Given the description of an element on the screen output the (x, y) to click on. 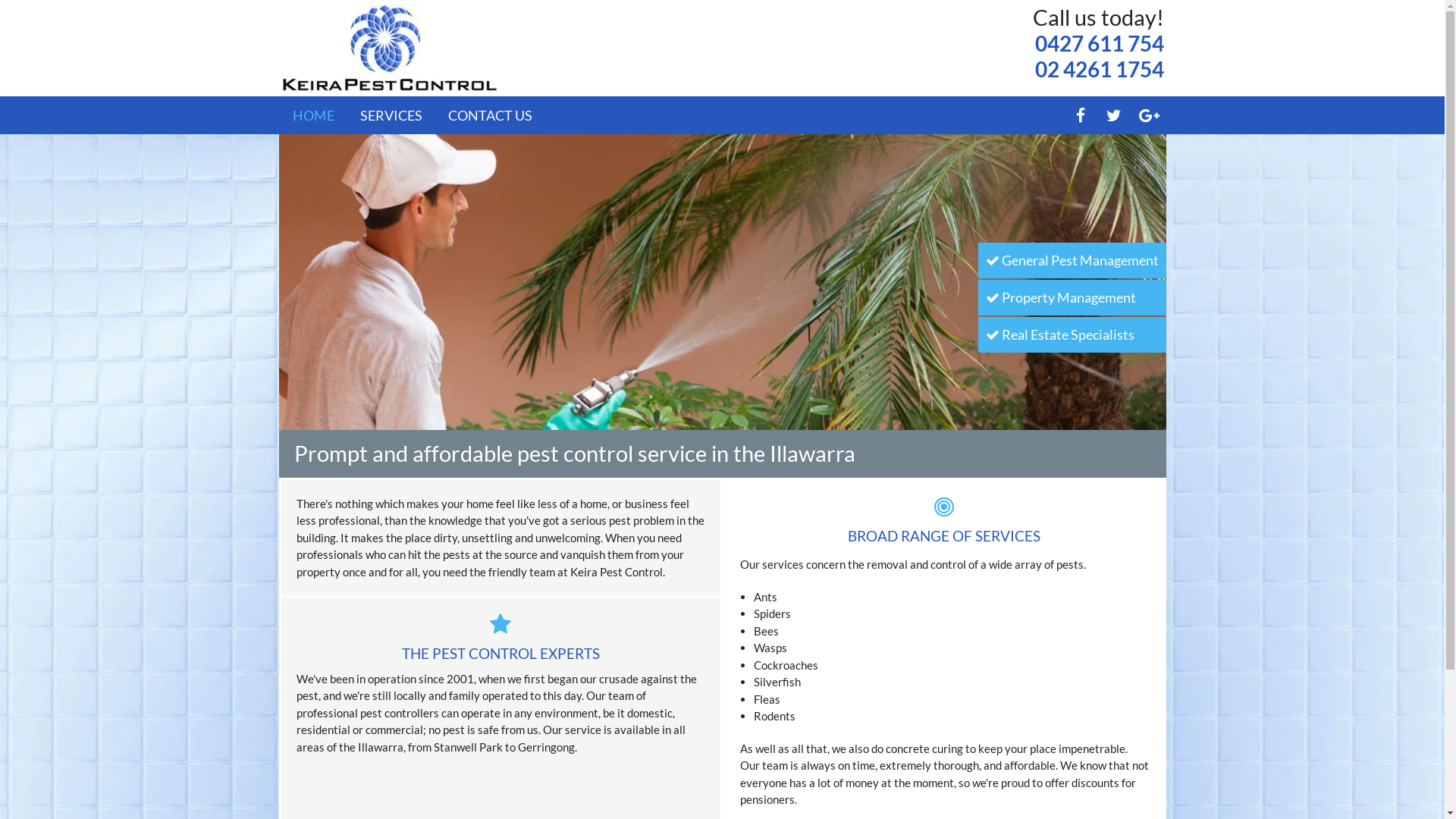
CONTACT US Element type: text (489, 115)
02 4261 1754 Element type: text (1098, 68)
keira pest control business logo Element type: hover (389, 47)
HOME Element type: text (313, 115)
0427 611 754 Element type: text (1098, 43)
keira pest control technician high pressure spray Element type: hover (722, 281)
SERVICES Element type: text (390, 115)
